Given the description of an element on the screen output the (x, y) to click on. 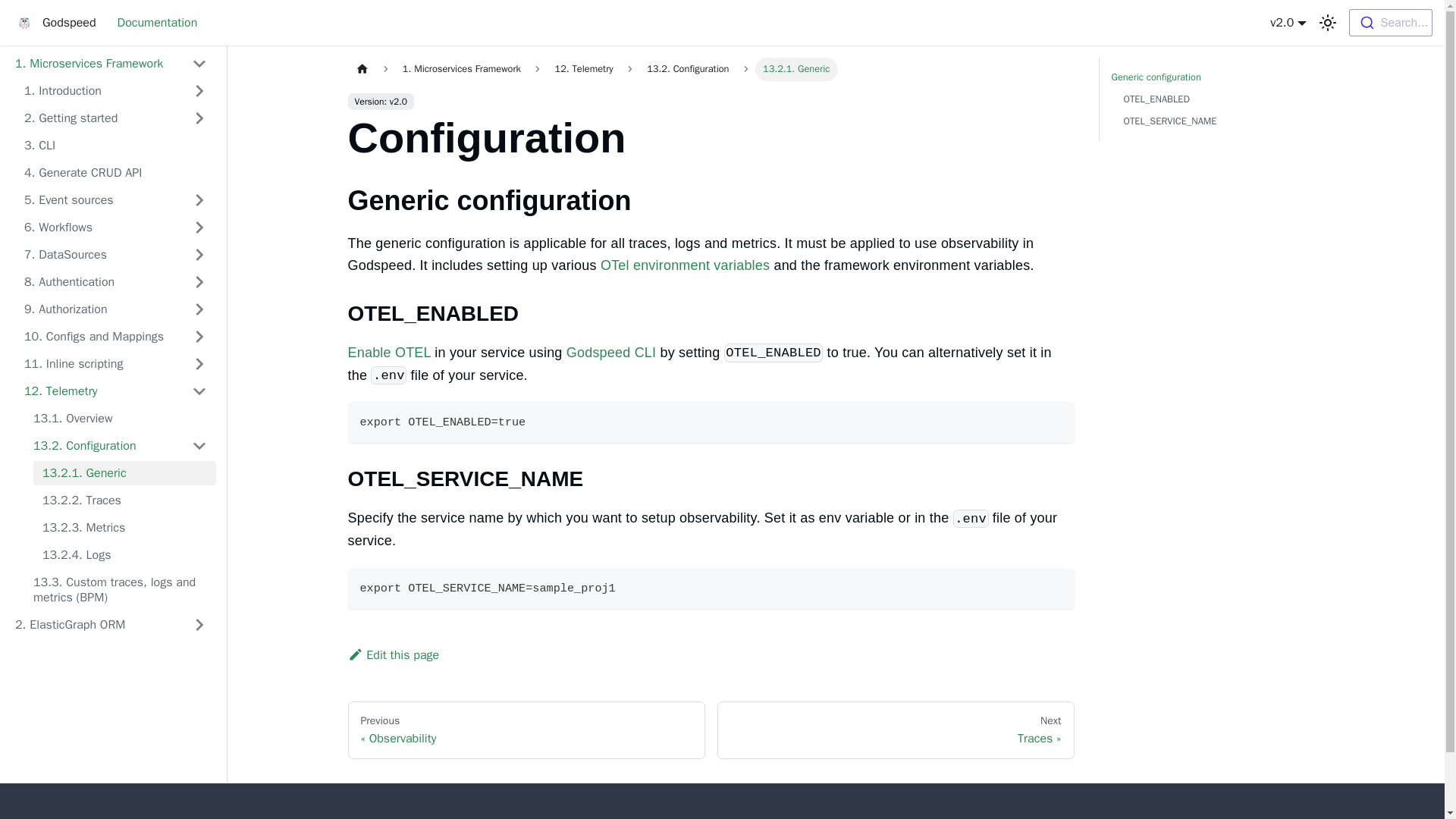
1. Introduction (114, 90)
13.2.3. Metrics (124, 527)
7. DataSources (114, 254)
13.2.4. Logs (124, 554)
2. ElasticGraph ORM (110, 624)
Godspeed (53, 22)
Search... (1390, 22)
6. Workflows (114, 227)
5. Event sources (114, 200)
OTel environment variables (684, 264)
8. Authentication (114, 282)
3. CLI (114, 145)
Enable OTEL (388, 352)
13.2. Configuration (119, 445)
13.2.1. Generic (124, 473)
